Given the description of an element on the screen output the (x, y) to click on. 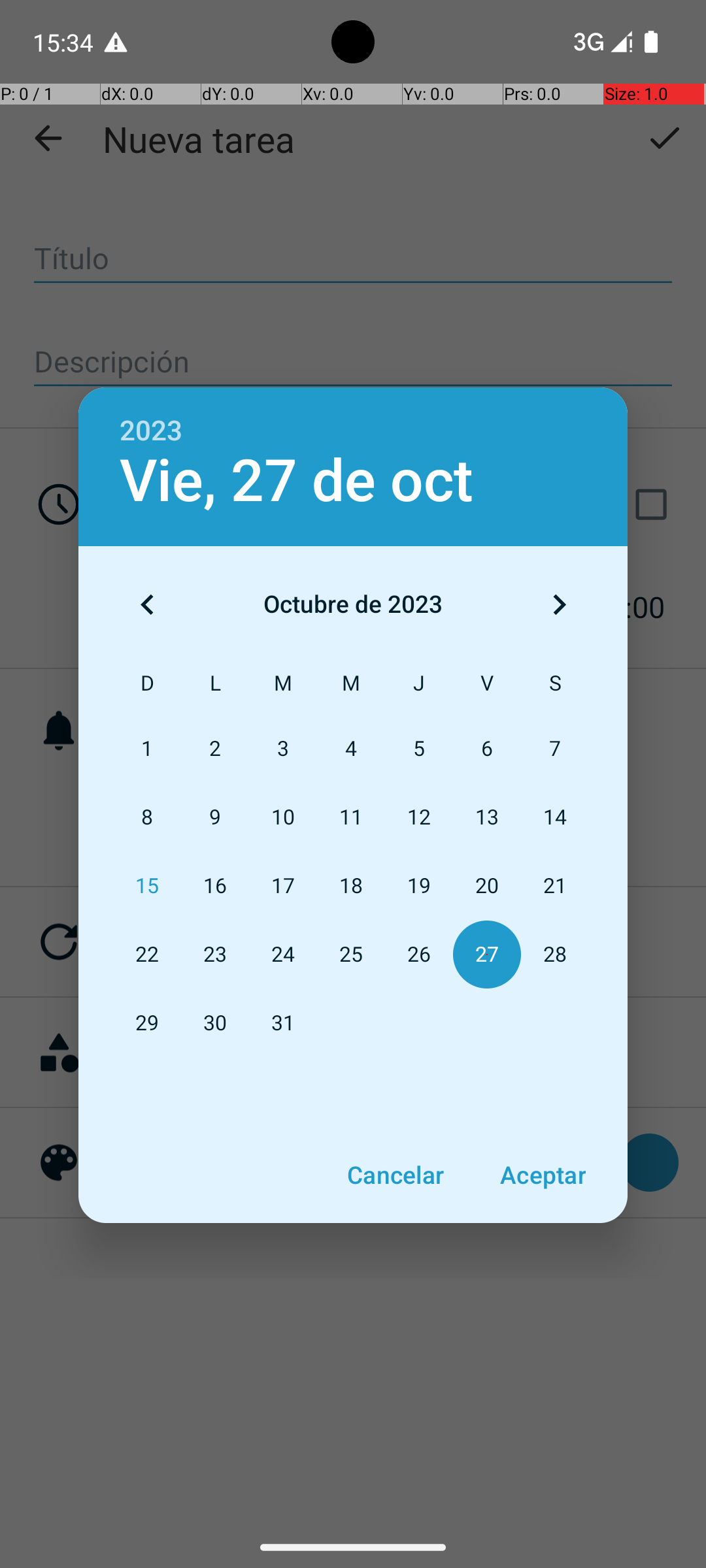
Vie, 27 de oct Element type: android.widget.TextView (296, 480)
Mes anterior Element type: android.widget.ImageButton (146, 604)
Mes siguiente Element type: android.widget.ImageButton (558, 604)
Cancelar Element type: android.widget.Button (394, 1174)
Aceptar Element type: android.widget.Button (542, 1174)
